Given the description of an element on the screen output the (x, y) to click on. 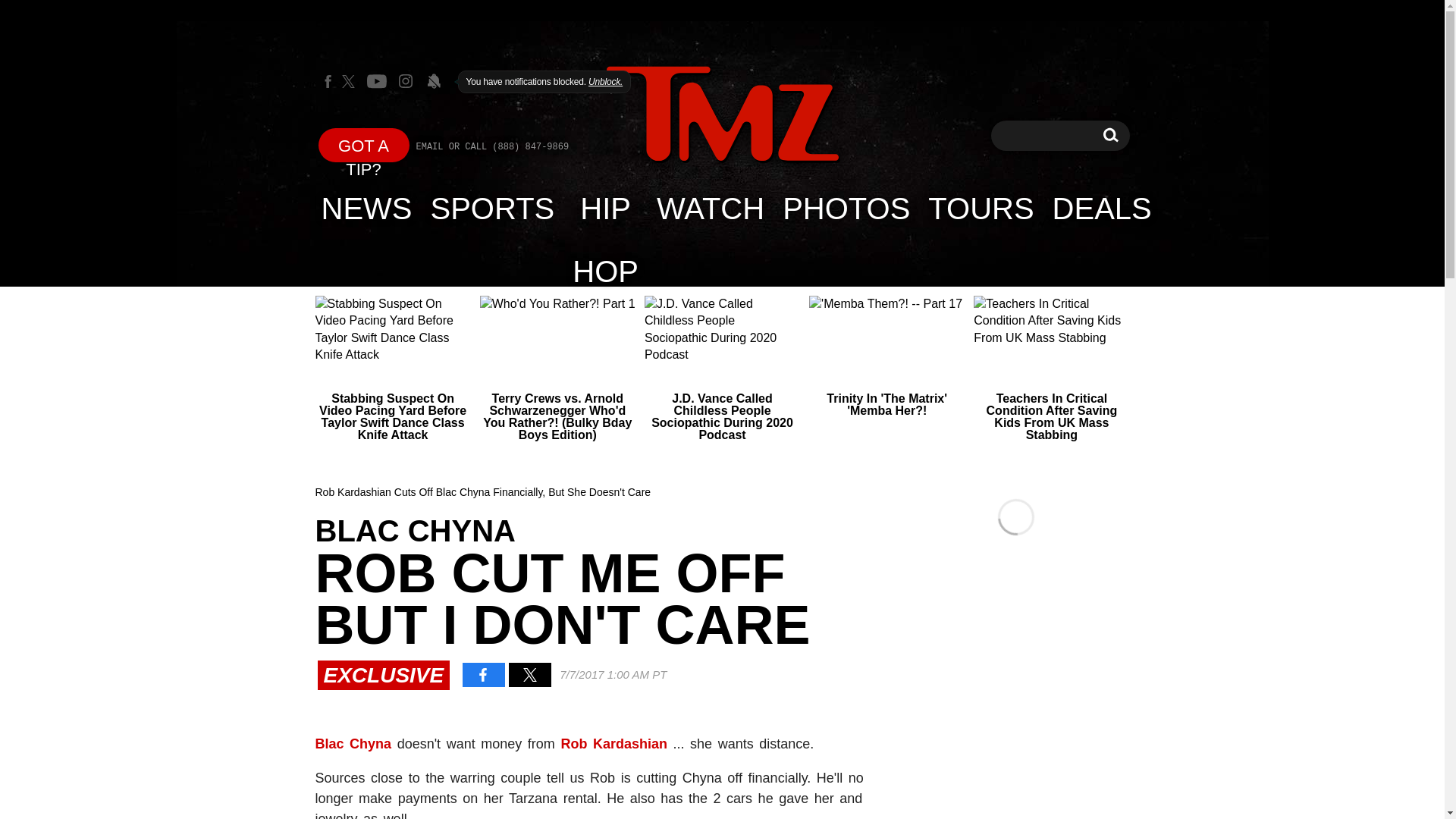
WATCH (710, 207)
PHOTOS (845, 207)
TMZ (722, 113)
TMZ (722, 115)
SPORTS (493, 207)
DEALS (1101, 207)
Search (1110, 135)
NEWS (1110, 134)
GOT A TIP? (367, 207)
HIP HOP (363, 144)
TOURS (605, 207)
